Given the description of an element on the screen output the (x, y) to click on. 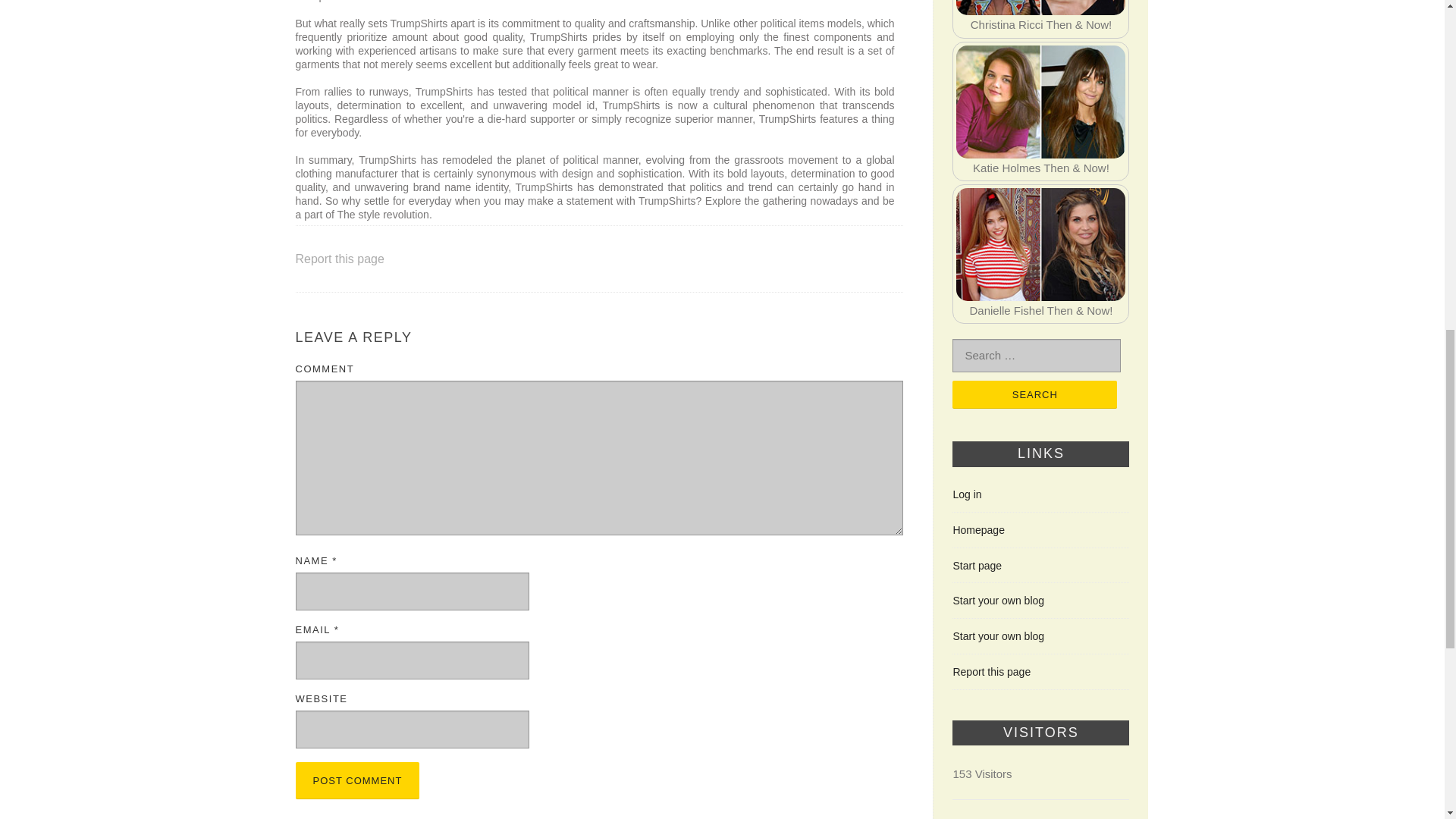
Start page (976, 565)
Start your own blog (997, 635)
Search (1034, 394)
Search (1034, 394)
Search (1034, 394)
Post Comment (357, 780)
Log in (966, 494)
Report this page (339, 258)
Homepage (978, 530)
Report this page (991, 671)
